Given the description of an element on the screen output the (x, y) to click on. 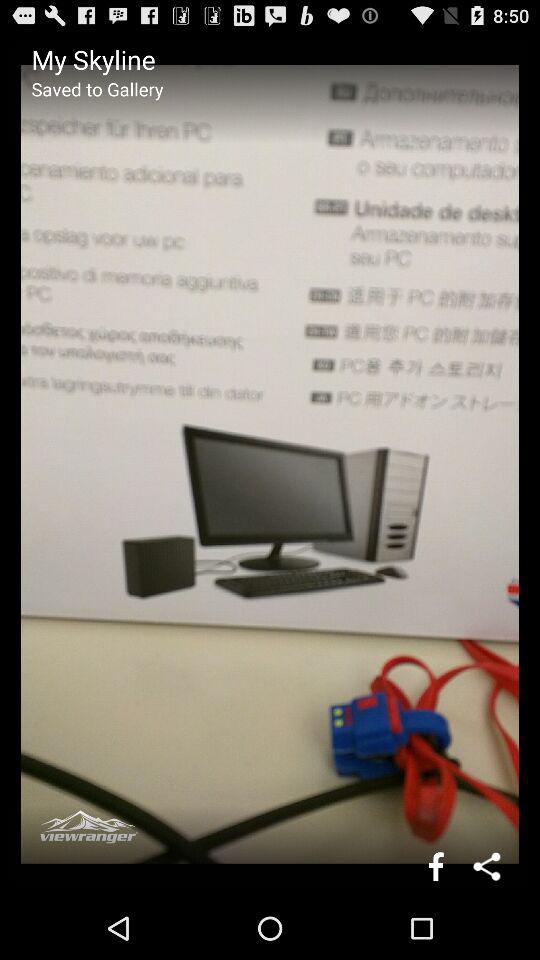
share (488, 866)
